Given the description of an element on the screen output the (x, y) to click on. 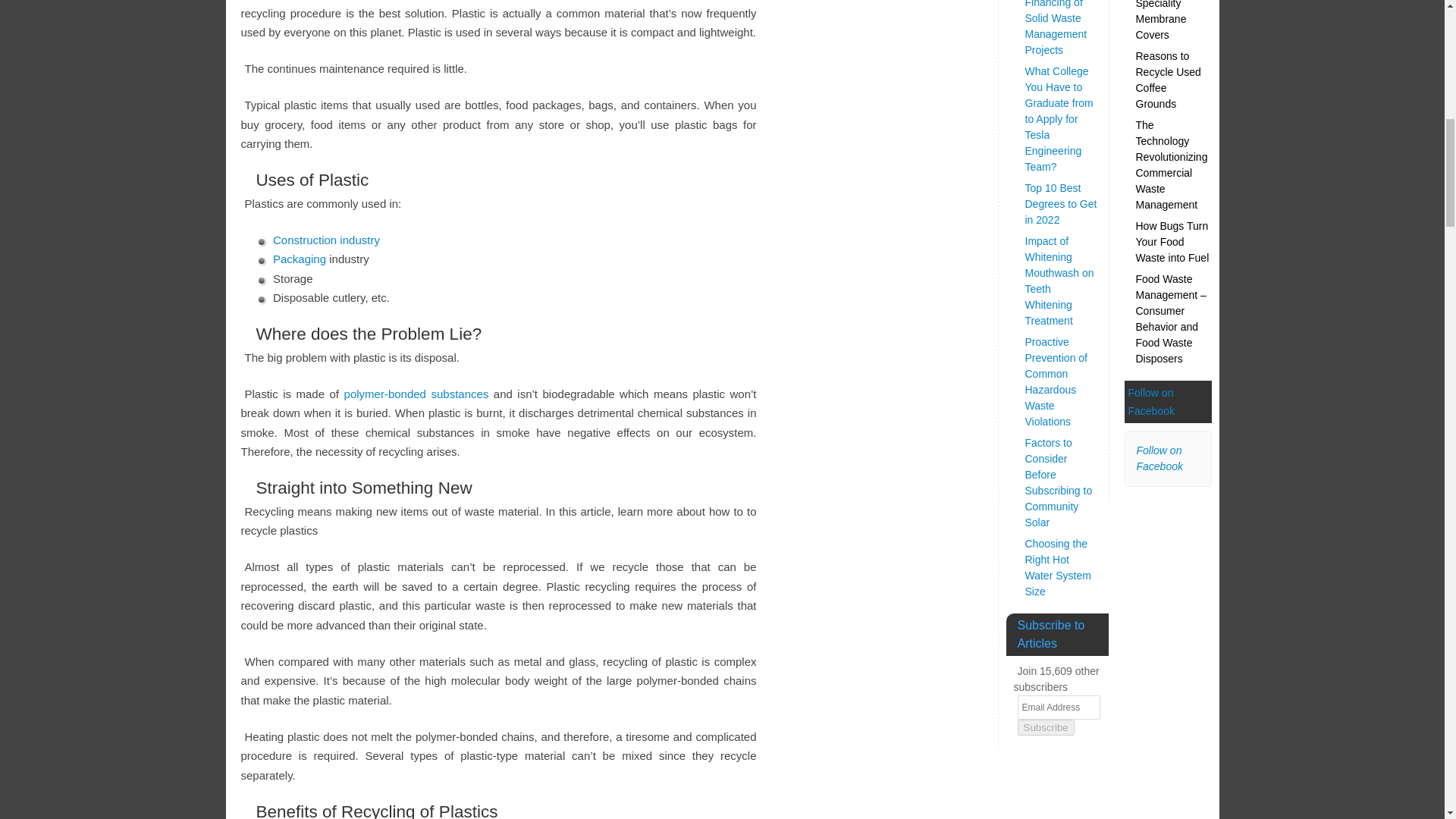
Construction industry (326, 239)
Packaging (299, 258)
polymer-bonded substances (416, 393)
